Given the description of an element on the screen output the (x, y) to click on. 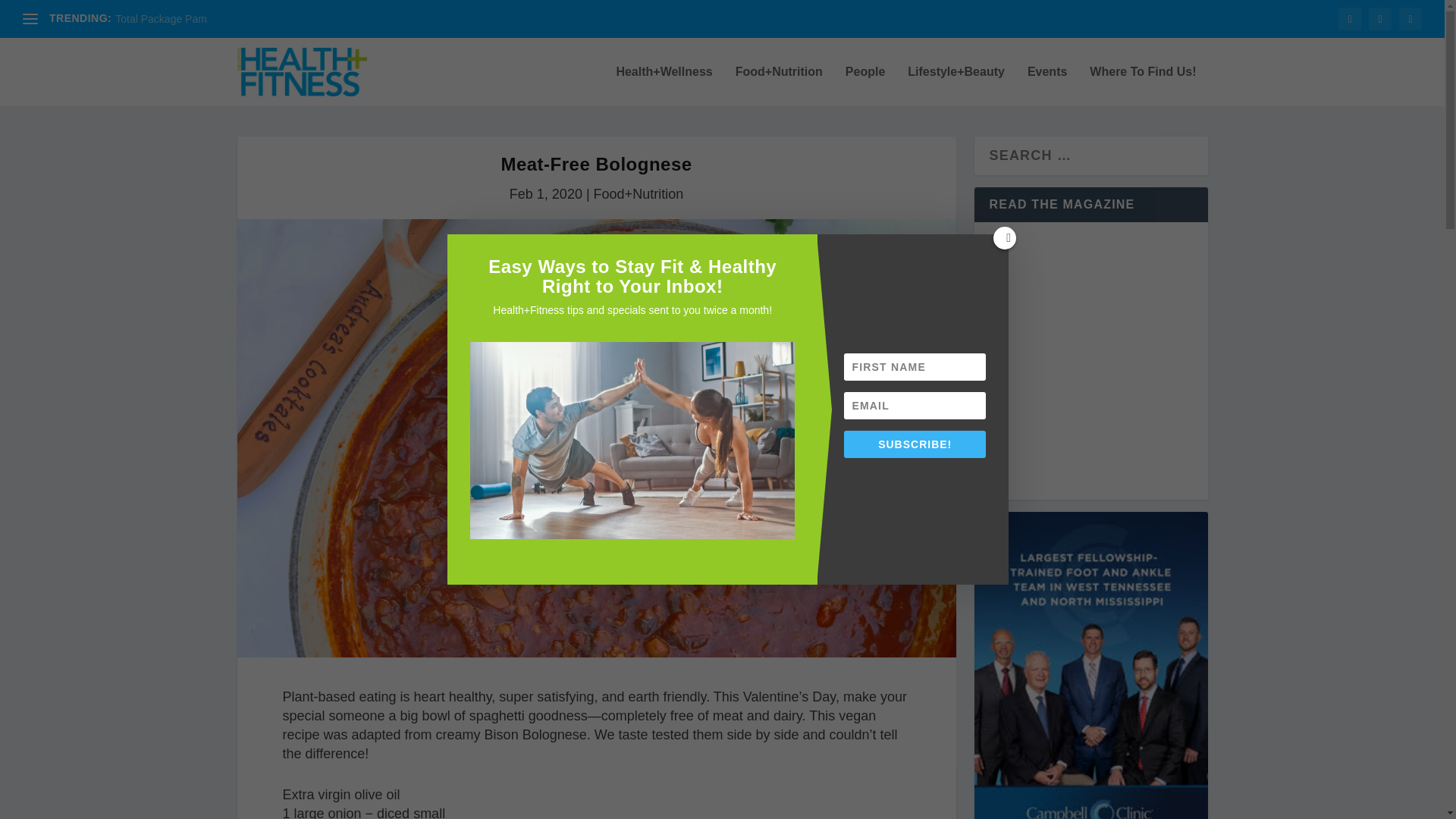
Events (1047, 86)
Total Package Pam (160, 19)
Where To Find Us! (1142, 86)
People (865, 86)
Search (37, 15)
